Given the description of an element on the screen output the (x, y) to click on. 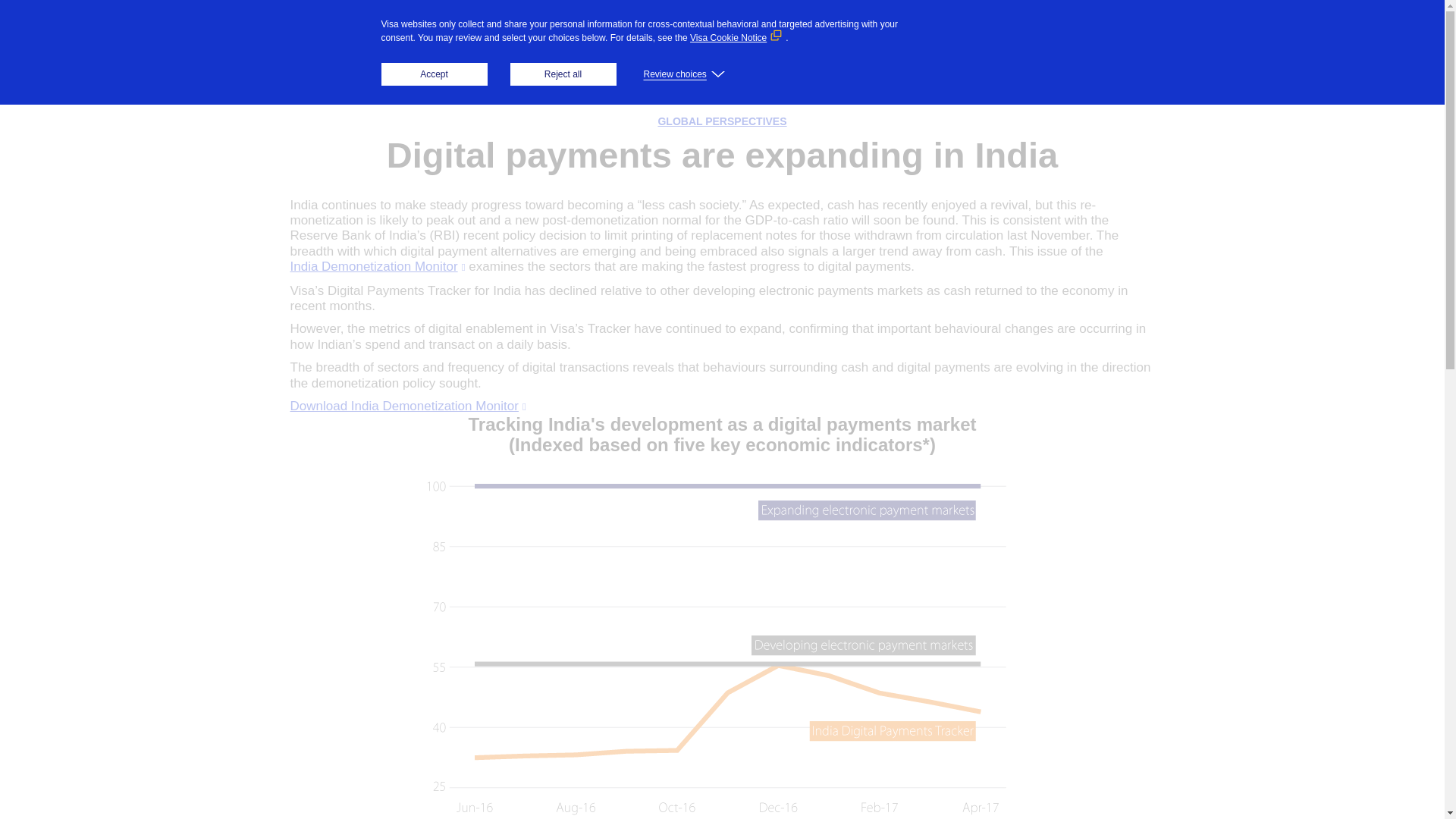
Businesses (715, 41)
Individuals (604, 41)
